Given the description of an element on the screen output the (x, y) to click on. 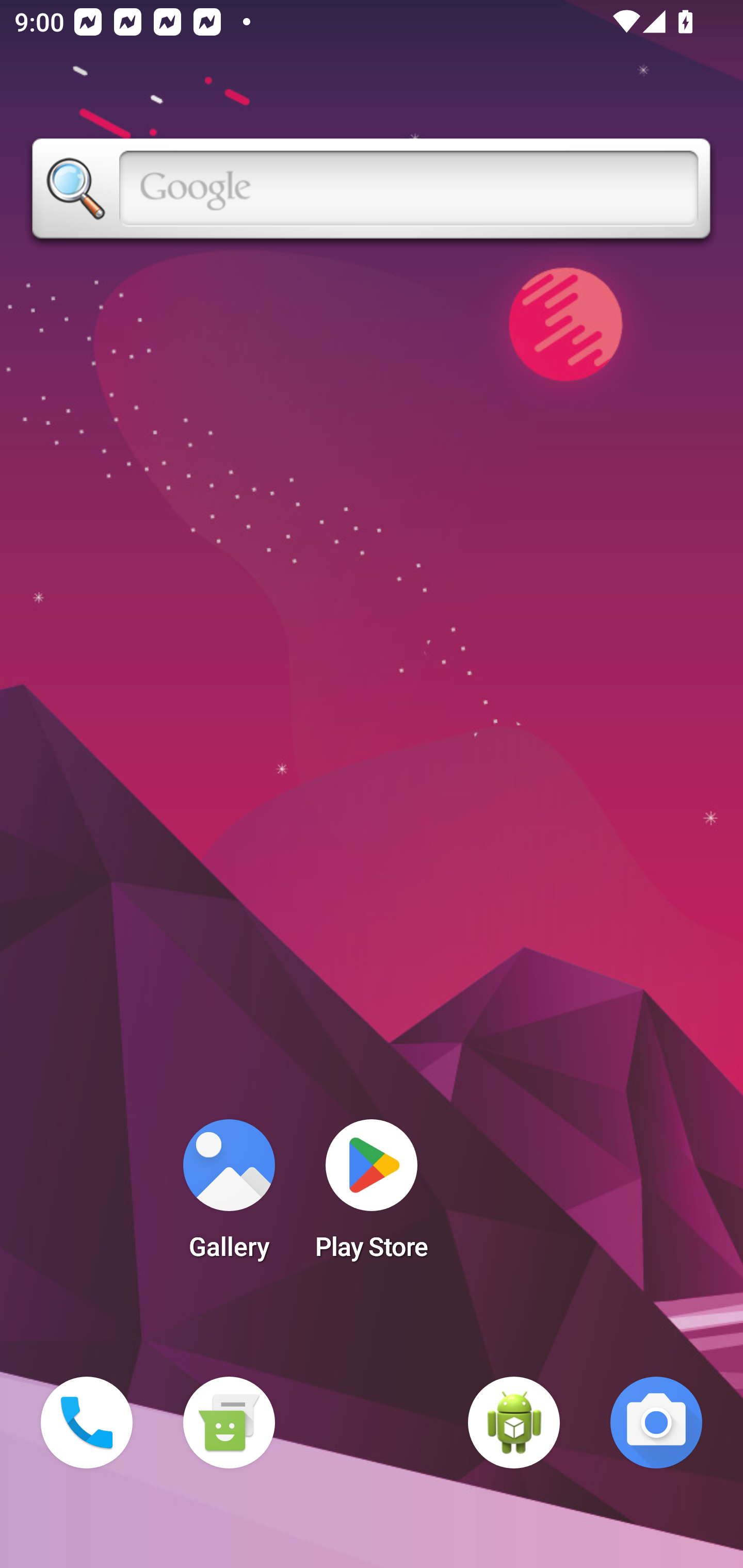
Gallery (228, 1195)
Play Store (371, 1195)
Phone (86, 1422)
Messaging (228, 1422)
WebView Browser Tester (513, 1422)
Camera (656, 1422)
